Given the description of an element on the screen output the (x, y) to click on. 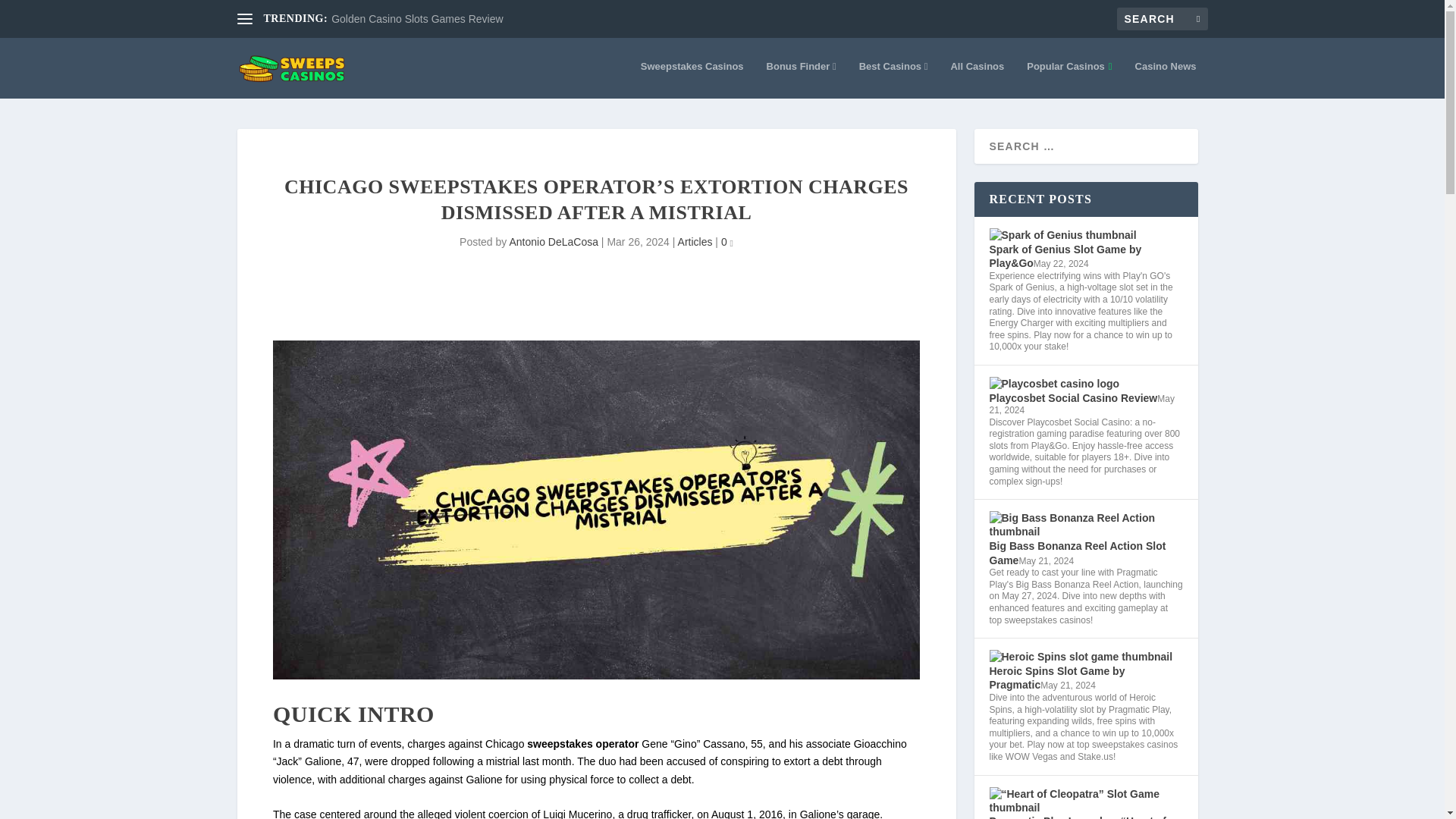
Articles (695, 241)
Antonio DeLaCosa (553, 241)
Golden Casino Slots Games Review (416, 19)
Casino News (1165, 79)
Posts by Antonio DeLaCosa (553, 241)
All Casinos (977, 79)
Popular Casinos (1069, 79)
Sweepstakes Casinos (692, 79)
0 (726, 241)
